Given the description of an element on the screen output the (x, y) to click on. 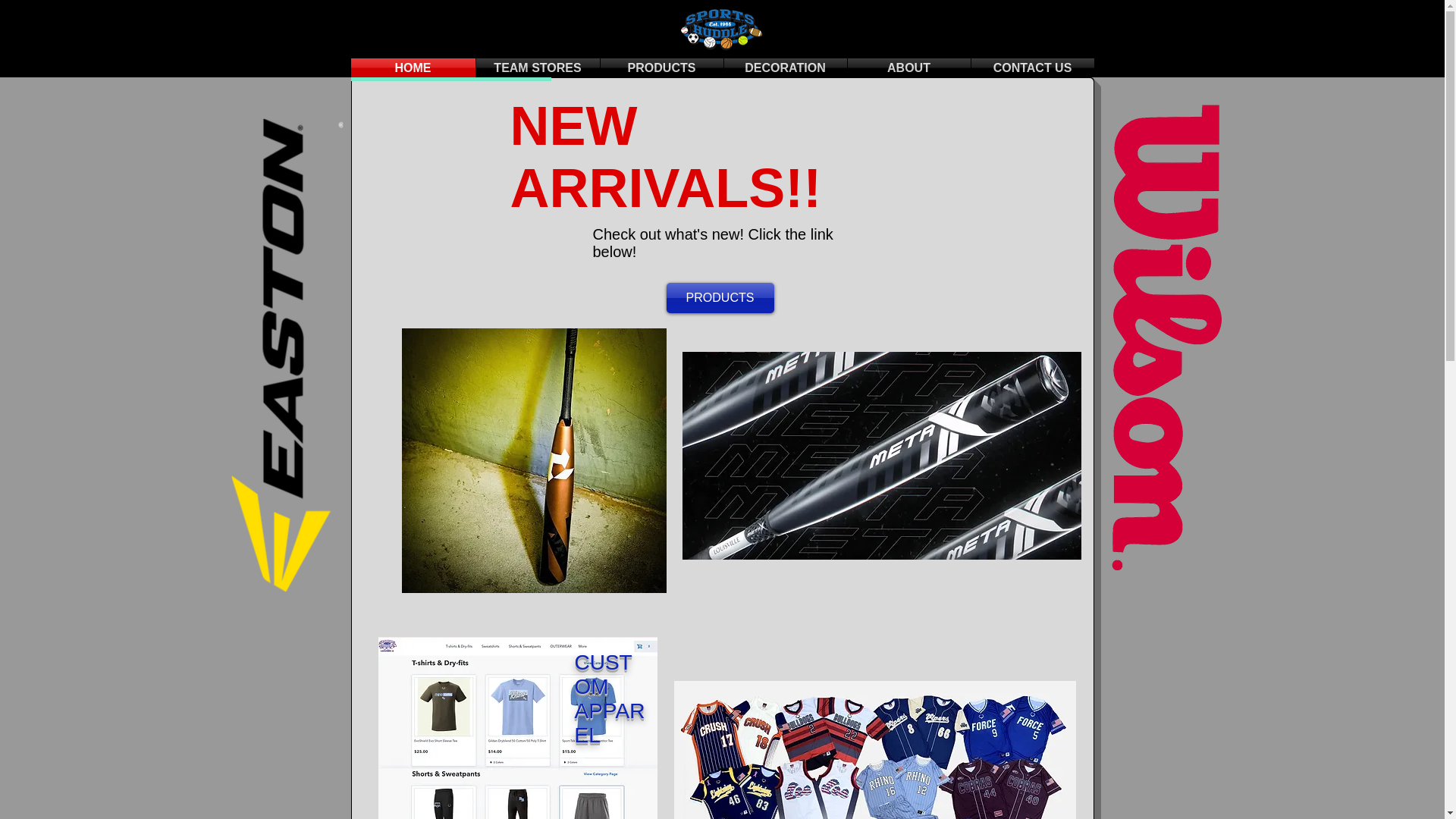
CONTACT US (1032, 67)
PRODUCTS (661, 67)
ABOUT (909, 67)
DECORATION (784, 67)
PRODUCTS (719, 297)
TEAM STORES (537, 67)
HOME (412, 67)
